Given the description of an element on the screen output the (x, y) to click on. 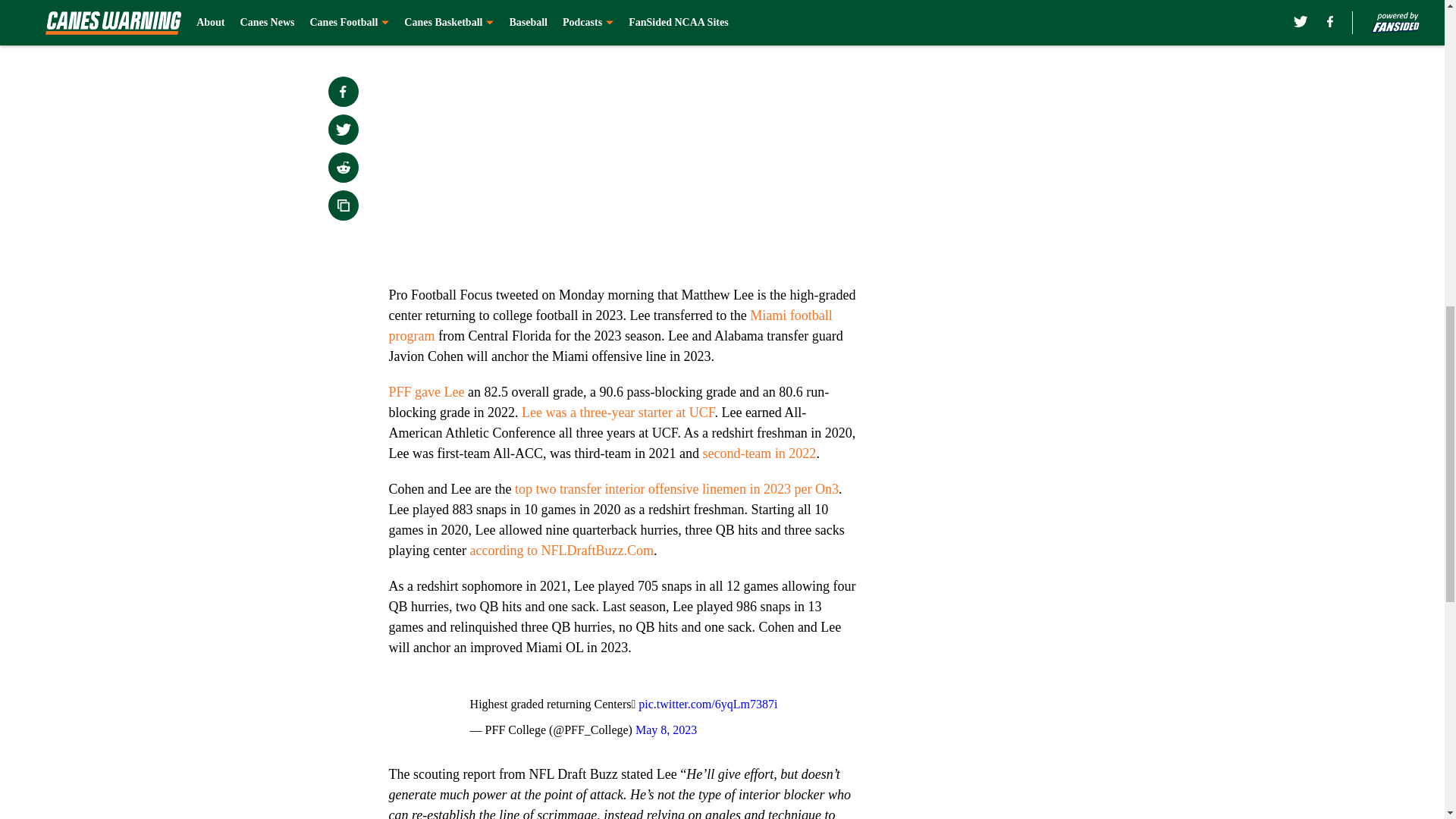
top two transfer interior offensive linemen in 2023 per On3 (676, 488)
Miami football program (609, 325)
according to NFLDraftBuzz.Com (560, 549)
second-team in 2022 (758, 453)
Lee was a three-year starter at UCF (617, 412)
May 8, 2023 (665, 729)
PFF gave Lee (426, 391)
